Given the description of an element on the screen output the (x, y) to click on. 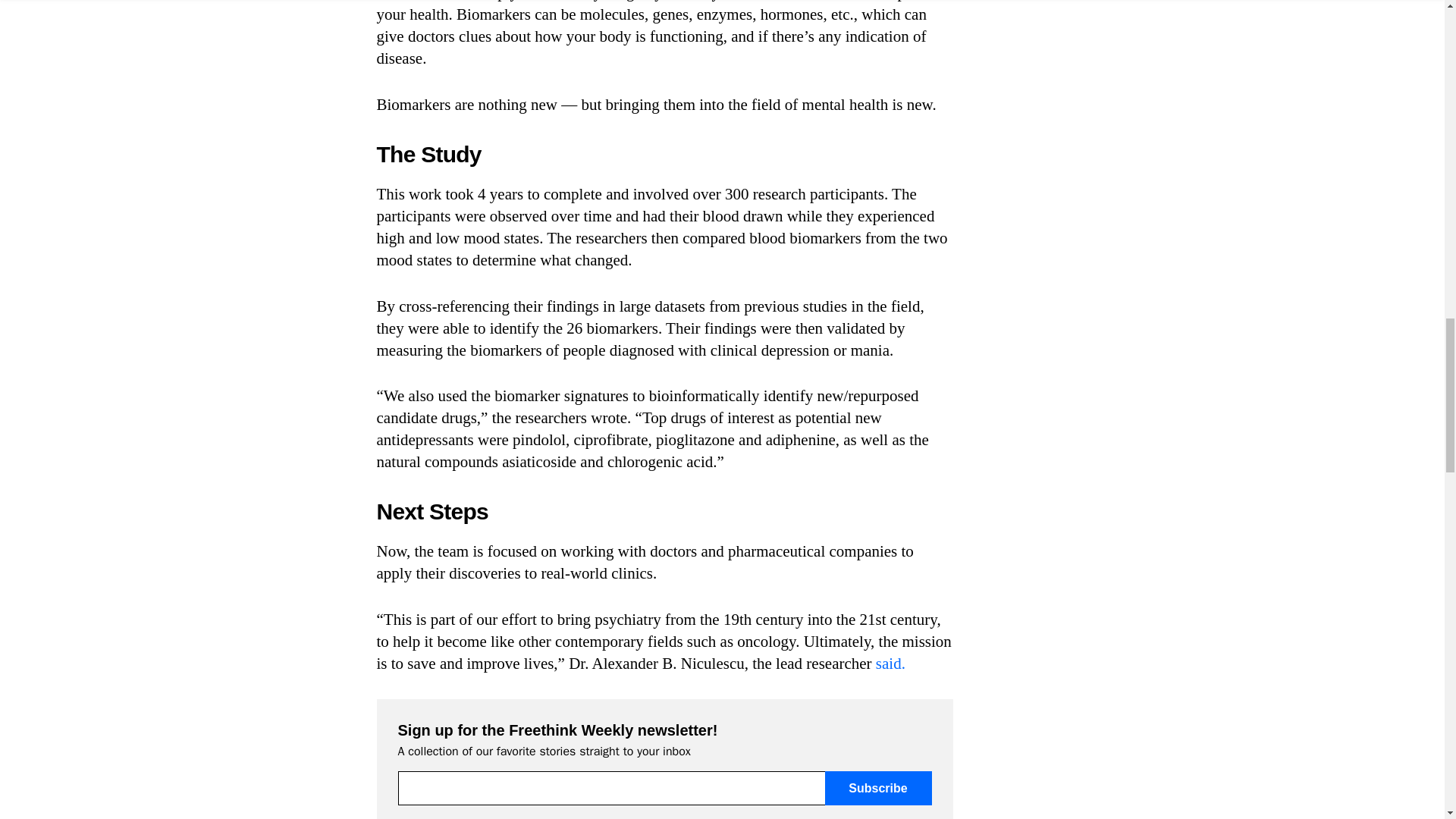
Subscribe (878, 788)
said. (890, 663)
Subscribe (878, 788)
